Given the description of an element on the screen output the (x, y) to click on. 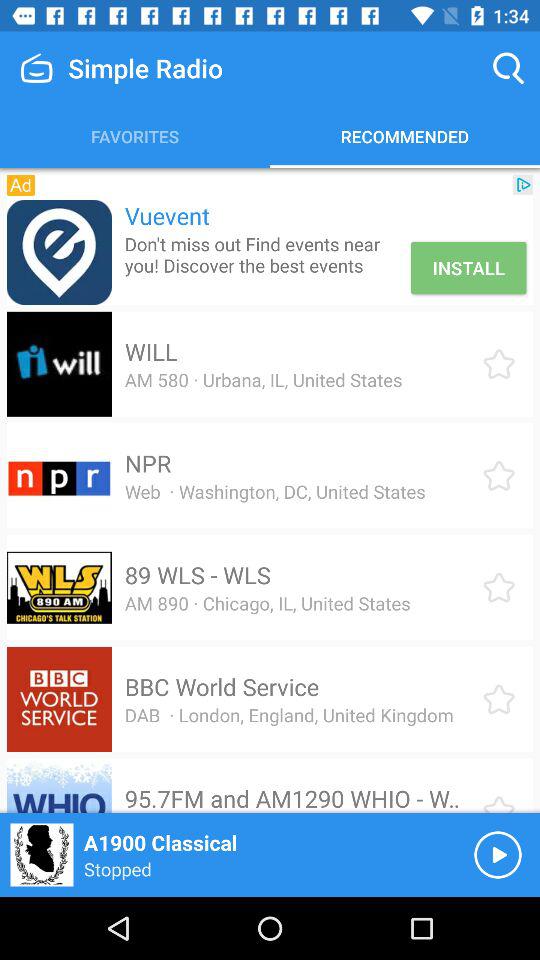
turn on the item to the left of vuevent item (58, 251)
